Given the description of an element on the screen output the (x, y) to click on. 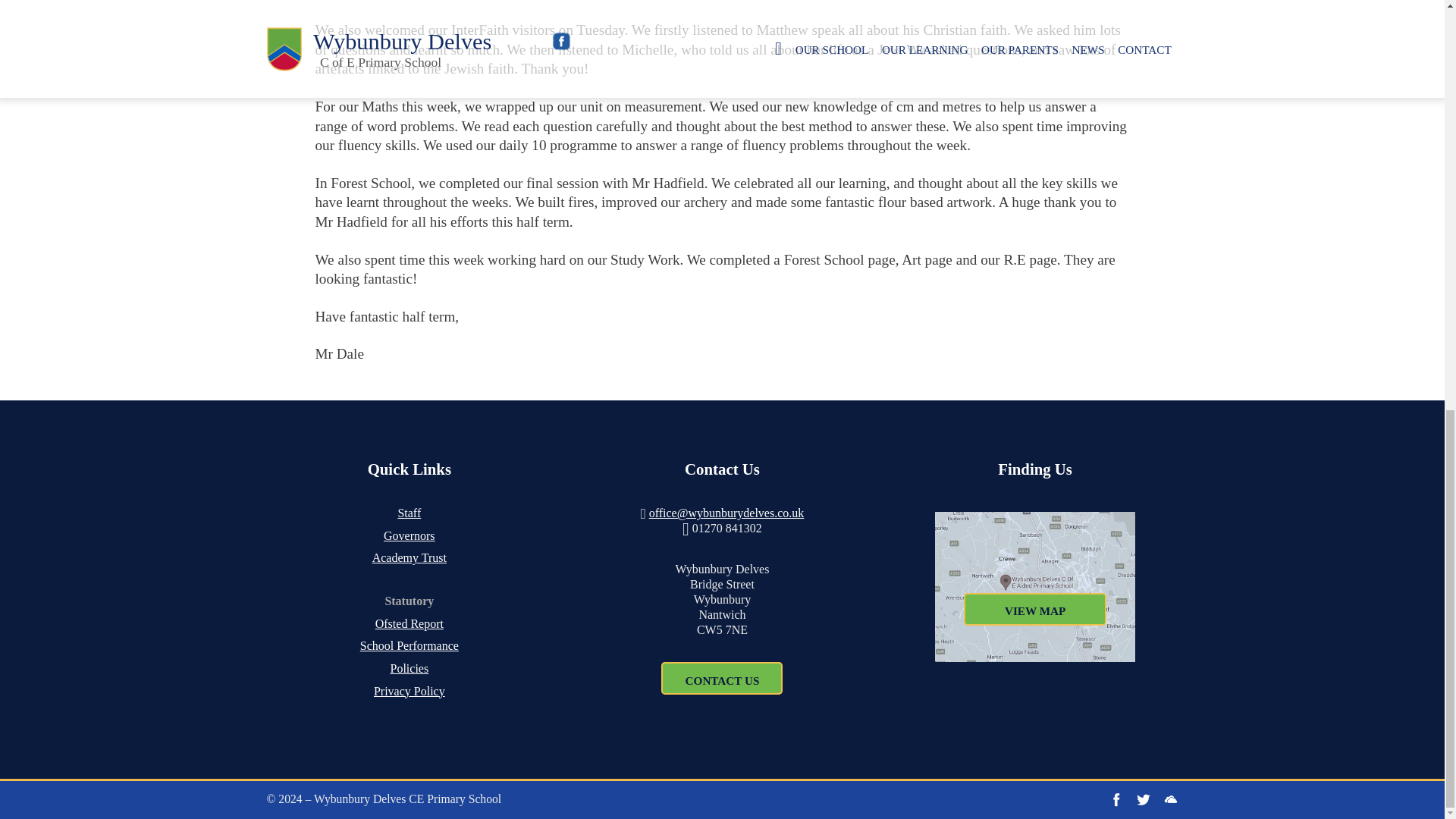
Sign into the Cloud (1170, 798)
Visit our X Feed (1143, 798)
Visit our Facebook Page (1116, 798)
